Given the description of an element on the screen output the (x, y) to click on. 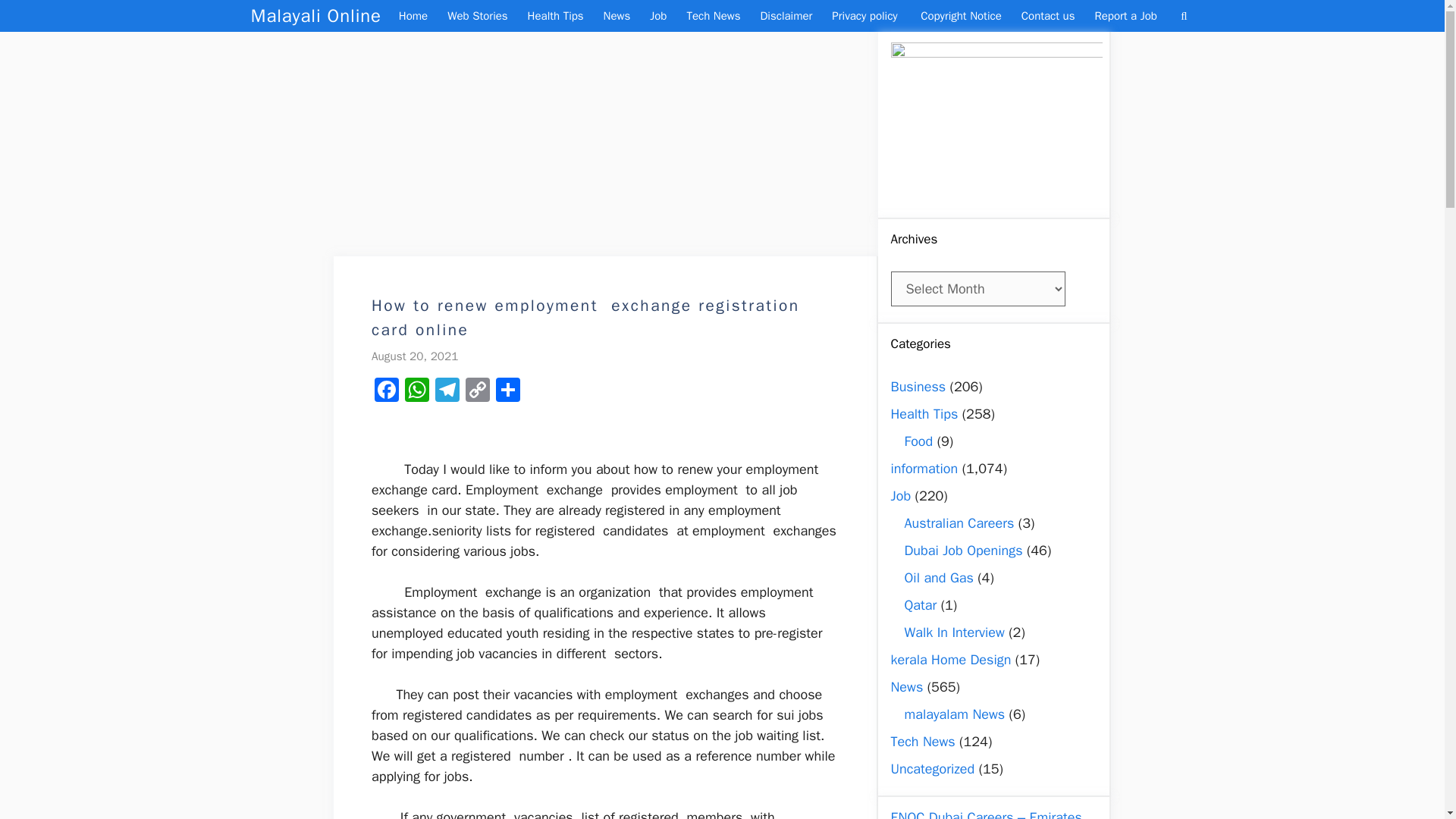
Contact us (1047, 15)
Copyright Notice (961, 15)
Privacy policy  (866, 15)
Web Stories (477, 15)
Advertisement (605, 143)
WhatsApp (416, 391)
Telegram (447, 391)
Copy Link (478, 391)
Home (413, 15)
Health Tips (556, 15)
Facebook (386, 391)
Job (658, 15)
Malayali Online (315, 15)
Telegram (447, 391)
Disclaimer (785, 15)
